Given the description of an element on the screen output the (x, y) to click on. 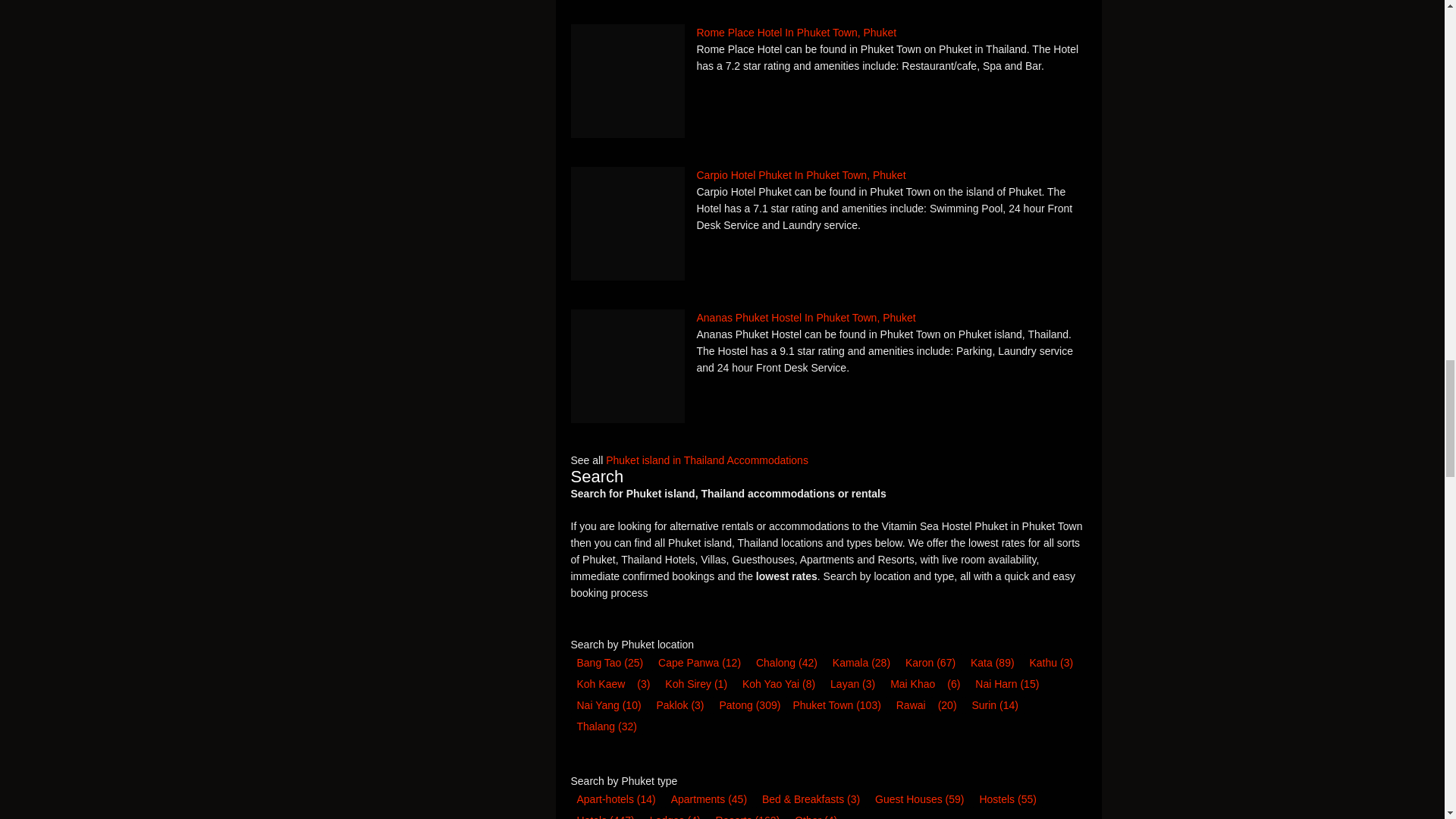
Carpio Hotel Phuket In Phuket Town, Phuket (828, 175)
Ananas Phuket Hostel In Phuket Town, Phuket (828, 317)
Rome Place Hotel in Phuket Town (627, 81)
Ananas Phuket Hostel in Phuket Town (627, 366)
Koh Kaew (600, 683)
Carpio Hotel Phuket in Phuket Town (627, 223)
Phuket island in Thailand Accommodations (706, 460)
Rome Place Hotel In Phuket Town, Phuket (828, 32)
